Given the description of an element on the screen output the (x, y) to click on. 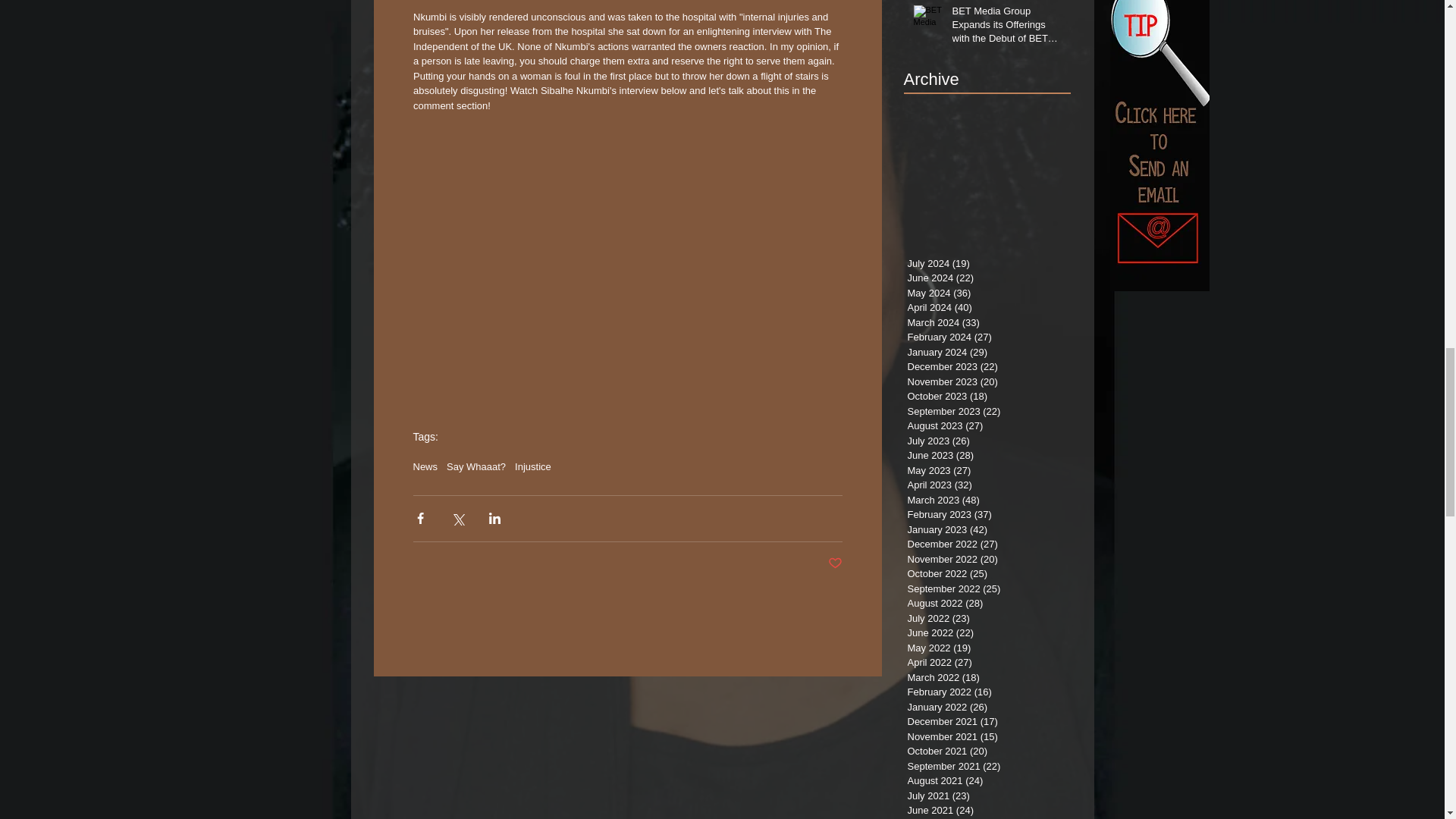
News (425, 466)
Injustice (533, 466)
Post not marked as liked (835, 563)
ricos-video (626, 185)
Say Whaaat? (475, 466)
